Given the description of an element on the screen output the (x, y) to click on. 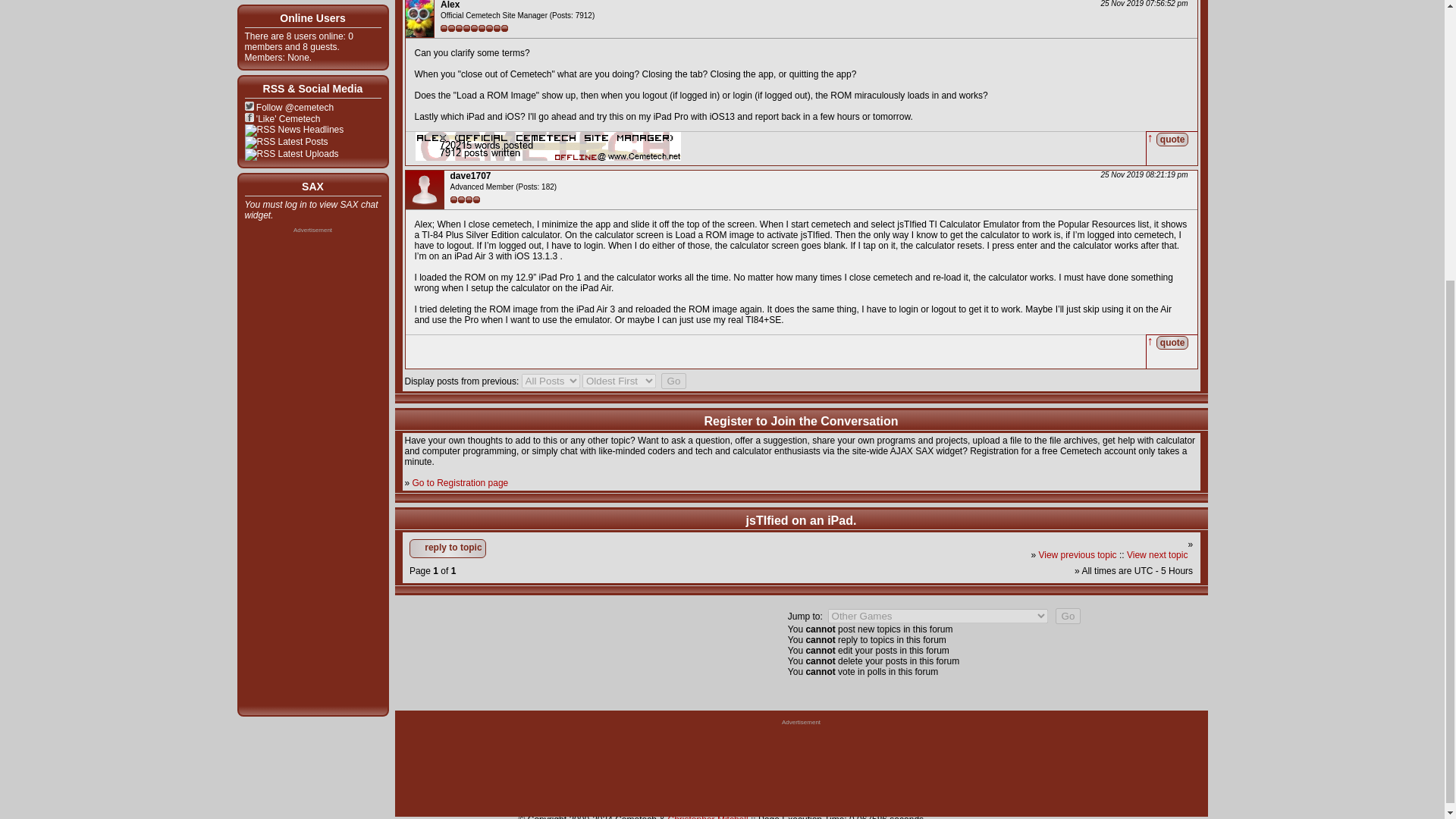
reply to topic (447, 547)
quote (1172, 138)
25 Nov 2019 07:56:52 pm (1140, 3)
quote (1172, 341)
Go to Registration page (460, 482)
Go (1068, 616)
jsTIfied on an iPad. (801, 520)
25 Nov 2019 08:21:19 pm (1140, 174)
Go (674, 381)
dave1707 (470, 175)
